Given the description of an element on the screen output the (x, y) to click on. 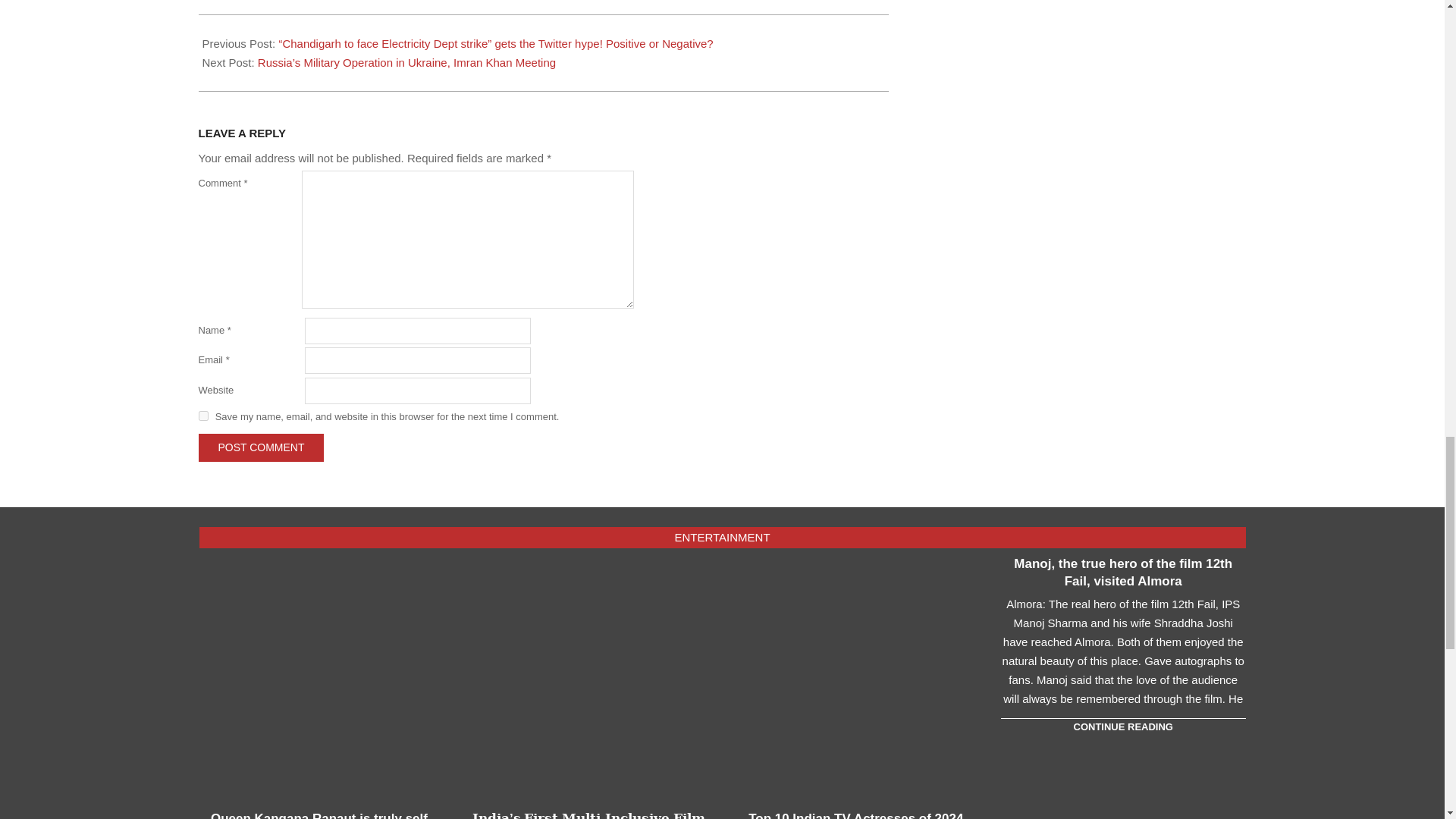
yes (203, 415)
Post Comment (261, 447)
